Given the description of an element on the screen output the (x, y) to click on. 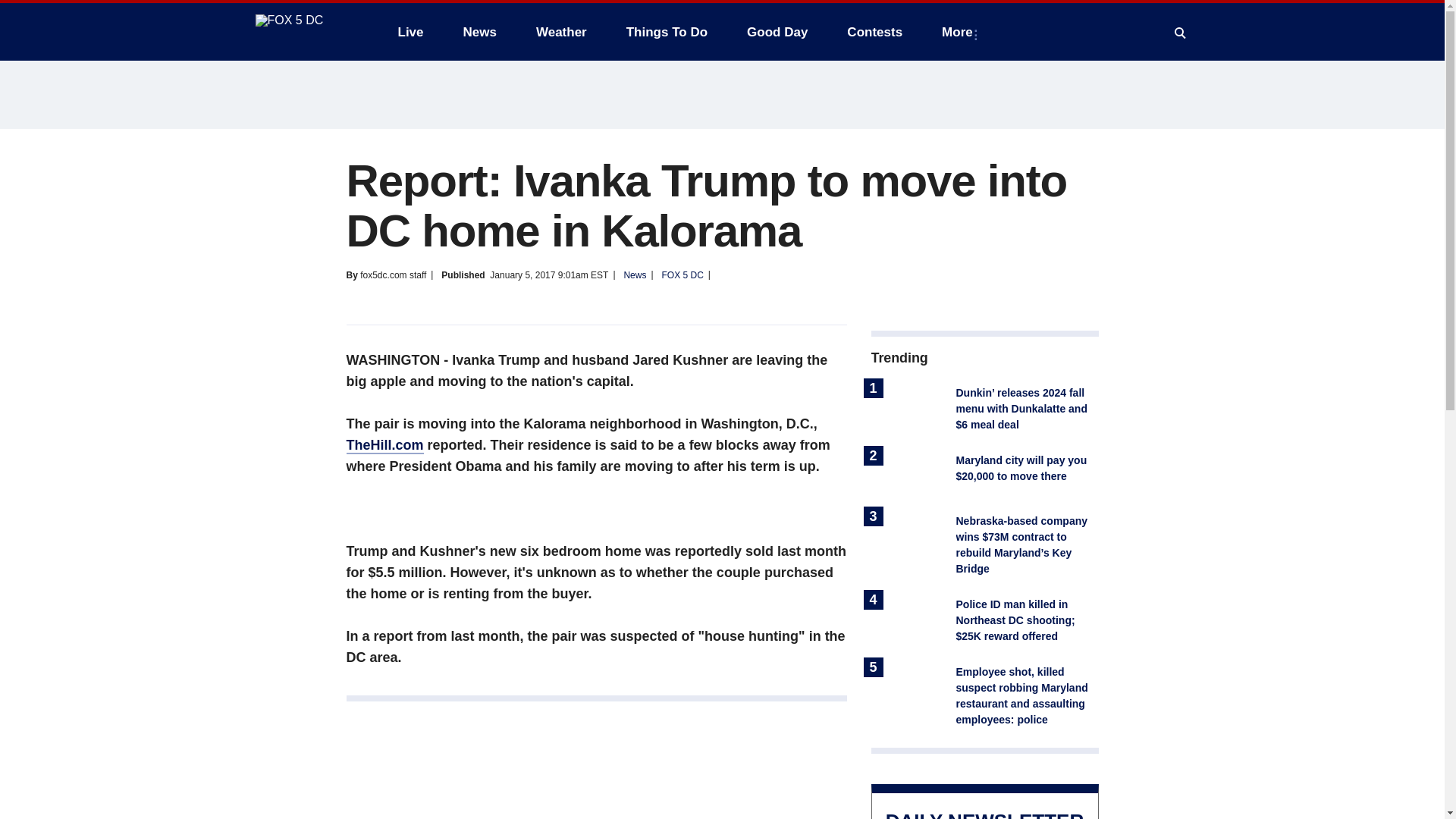
Contests (874, 32)
More (960, 32)
Weather (561, 32)
News (479, 32)
Things To Do (666, 32)
Good Day (777, 32)
Live (410, 32)
